Given the description of an element on the screen output the (x, y) to click on. 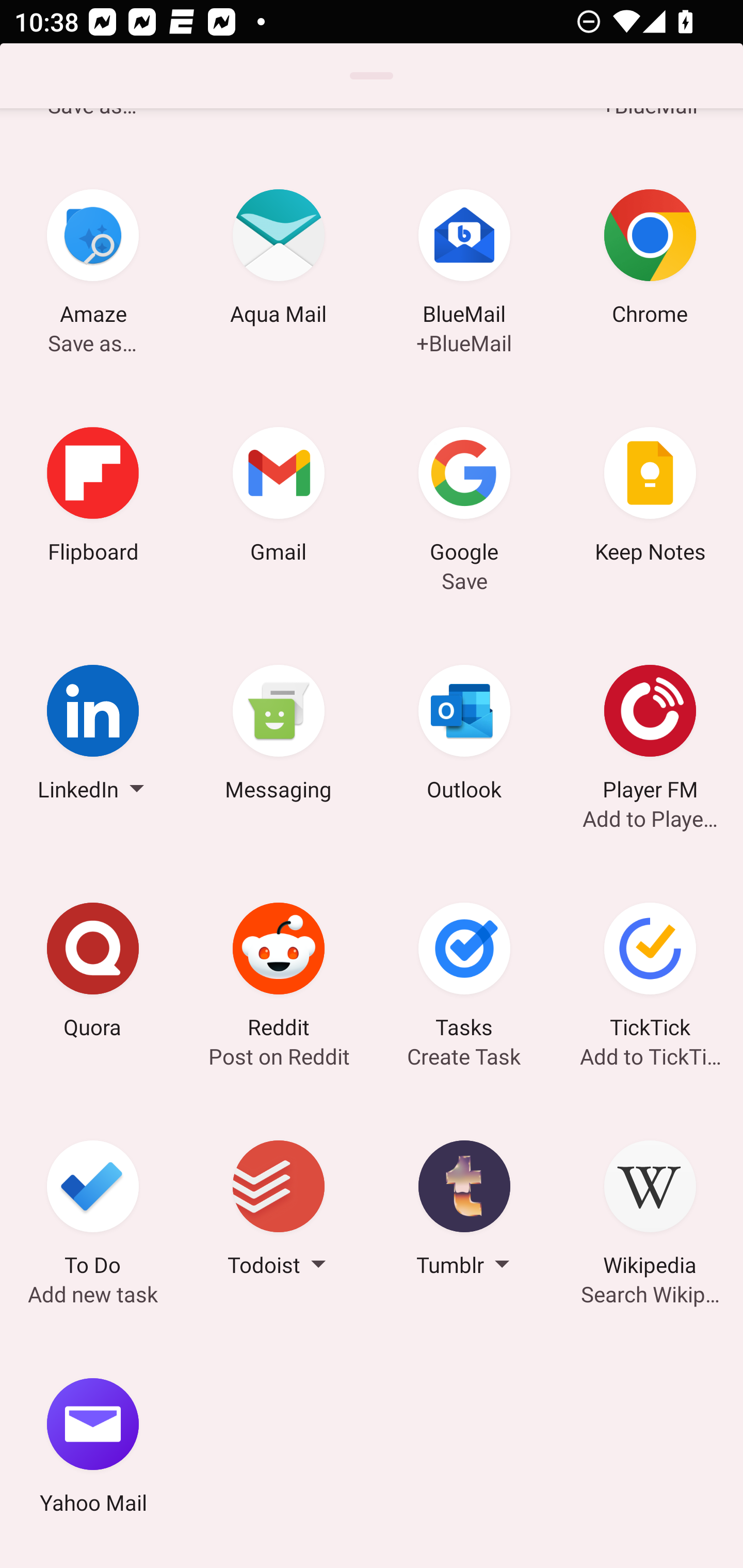
Amaze Save as… (92, 260)
Aqua Mail (278, 260)
BlueMail +BlueMail (464, 260)
Chrome (650, 260)
Flipboard (92, 497)
Gmail (278, 497)
Google Save (464, 497)
Keep Notes (650, 497)
LinkedIn (92, 735)
Messaging (278, 735)
Outlook (464, 735)
Player FM Add to Player FM (650, 735)
Quora (92, 973)
Reddit Post on Reddit (278, 973)
Tasks Create Task (464, 973)
TickTick Add to TickTick (650, 973)
To Do Add new task (92, 1210)
Todoist (278, 1210)
Tumblr (464, 1210)
Wikipedia Search Wikipedia (650, 1210)
Yahoo Mail (92, 1448)
